Given the description of an element on the screen output the (x, y) to click on. 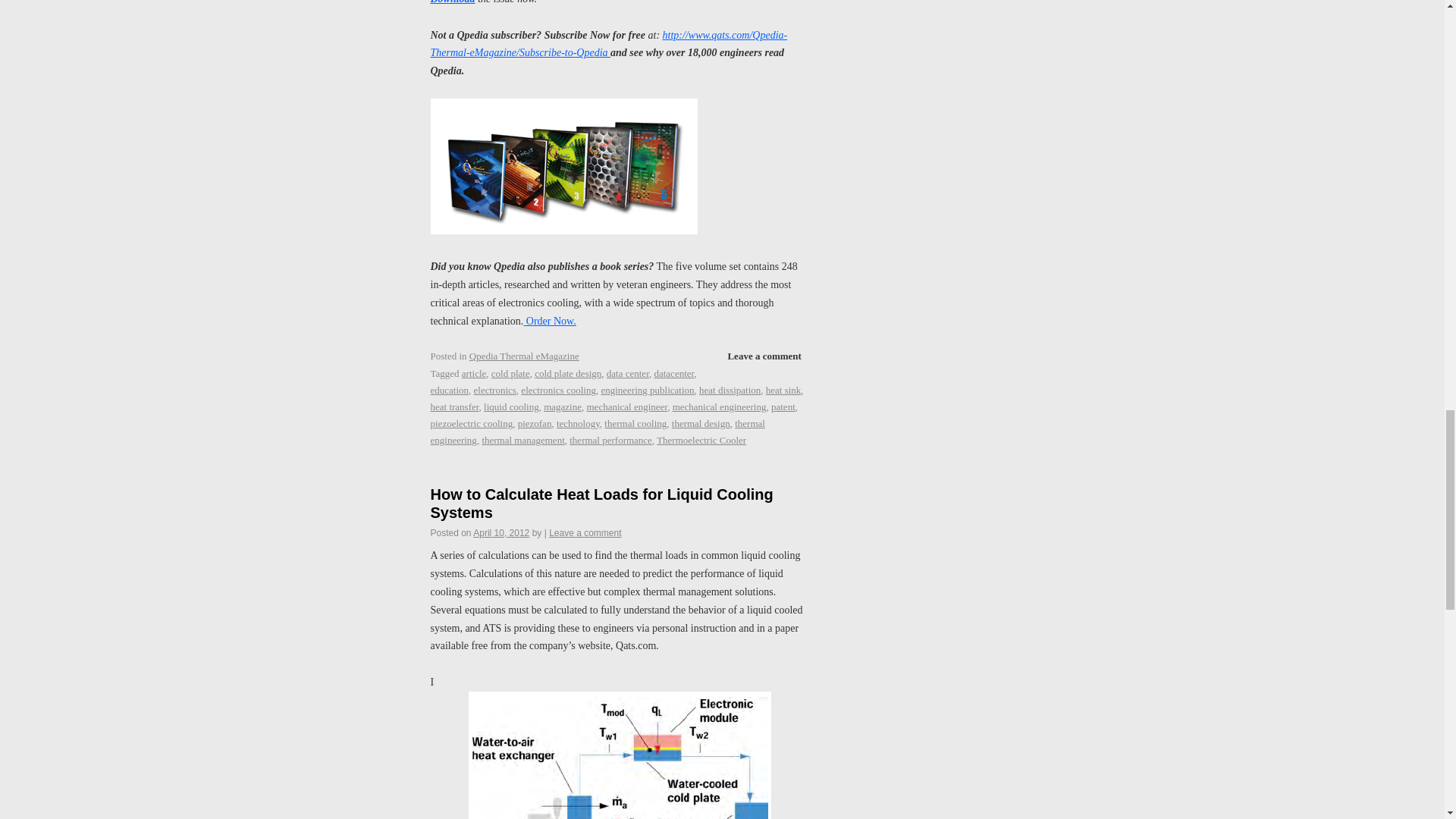
Load Calculations Schematic (619, 755)
6:39 pm (501, 532)
